Given the description of an element on the screen output the (x, y) to click on. 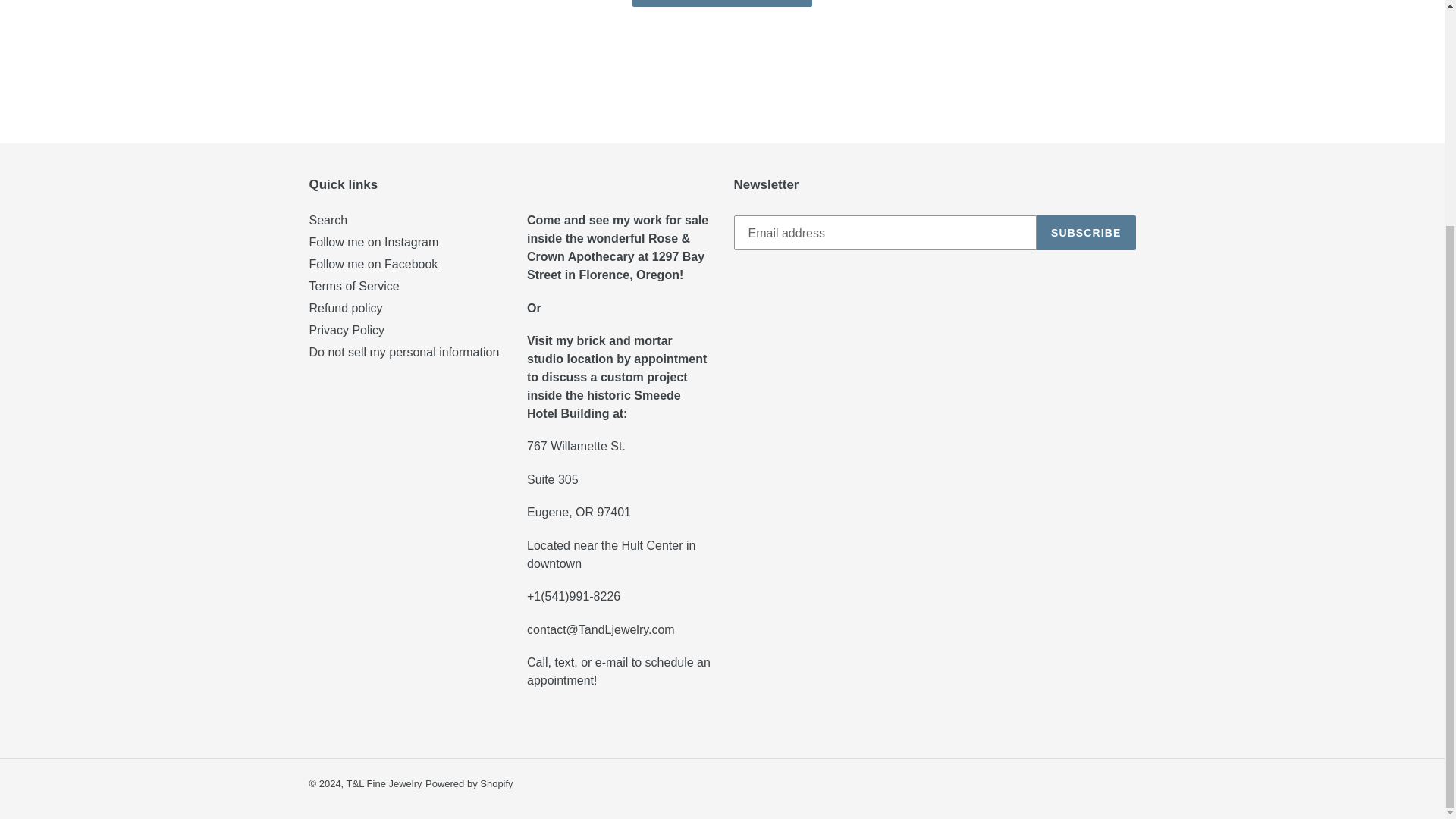
SUBSCRIBE (1085, 232)
Follow me on Instagram (373, 241)
Follow me on Facebook (373, 264)
Refund policy (345, 308)
CONTINUE SHOPPING (721, 3)
Search (327, 219)
Terms of Service (353, 286)
Do not sell my personal information (403, 351)
Powered by Shopify (469, 783)
Privacy Policy (346, 329)
